Given the description of an element on the screen output the (x, y) to click on. 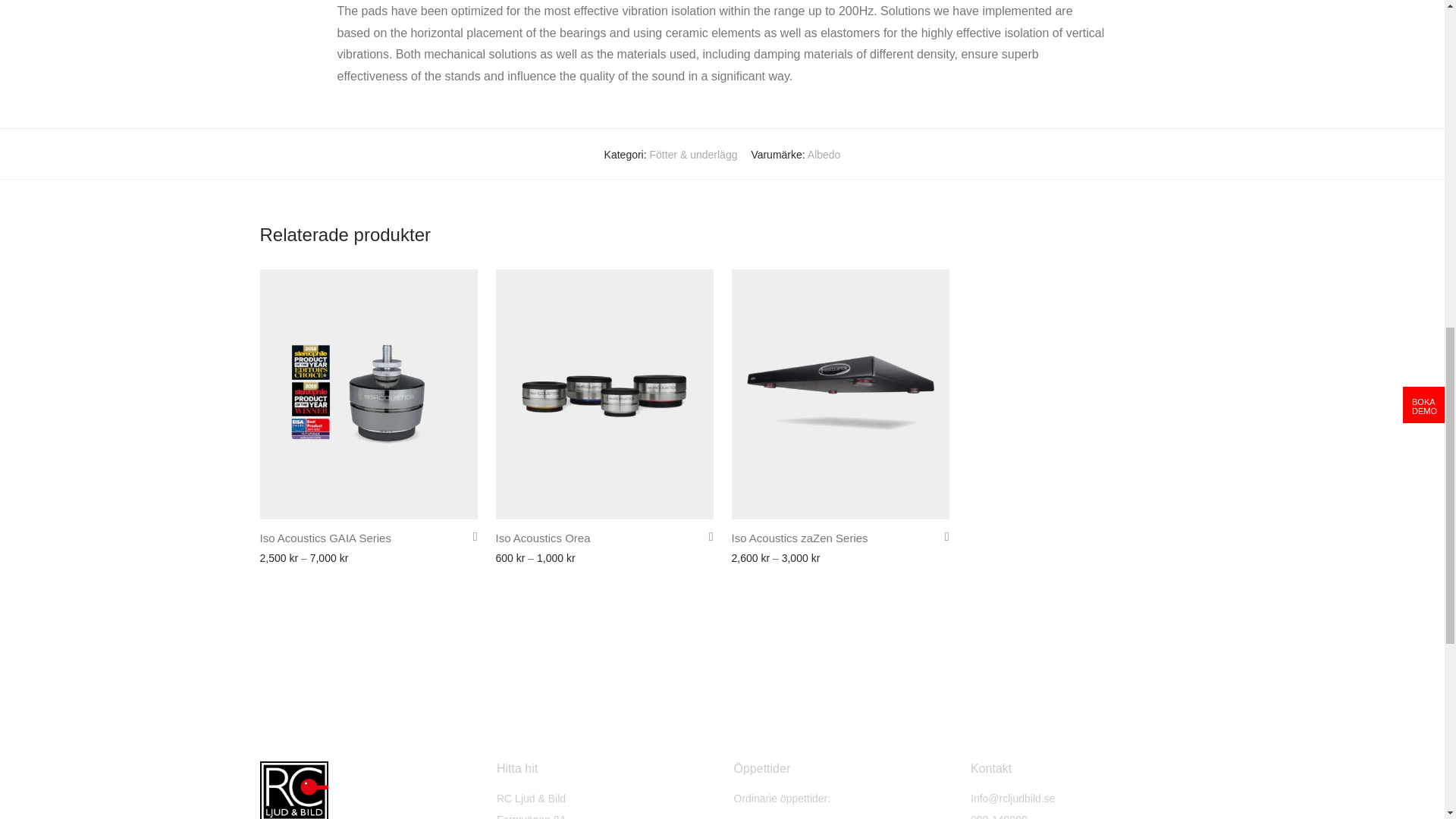
Iso Acoustics GAIA Series (324, 537)
Albedo (824, 154)
Iso Acoustics Orea (543, 537)
Iso Acoustics zaZen Series (798, 537)
